Given the description of an element on the screen output the (x, y) to click on. 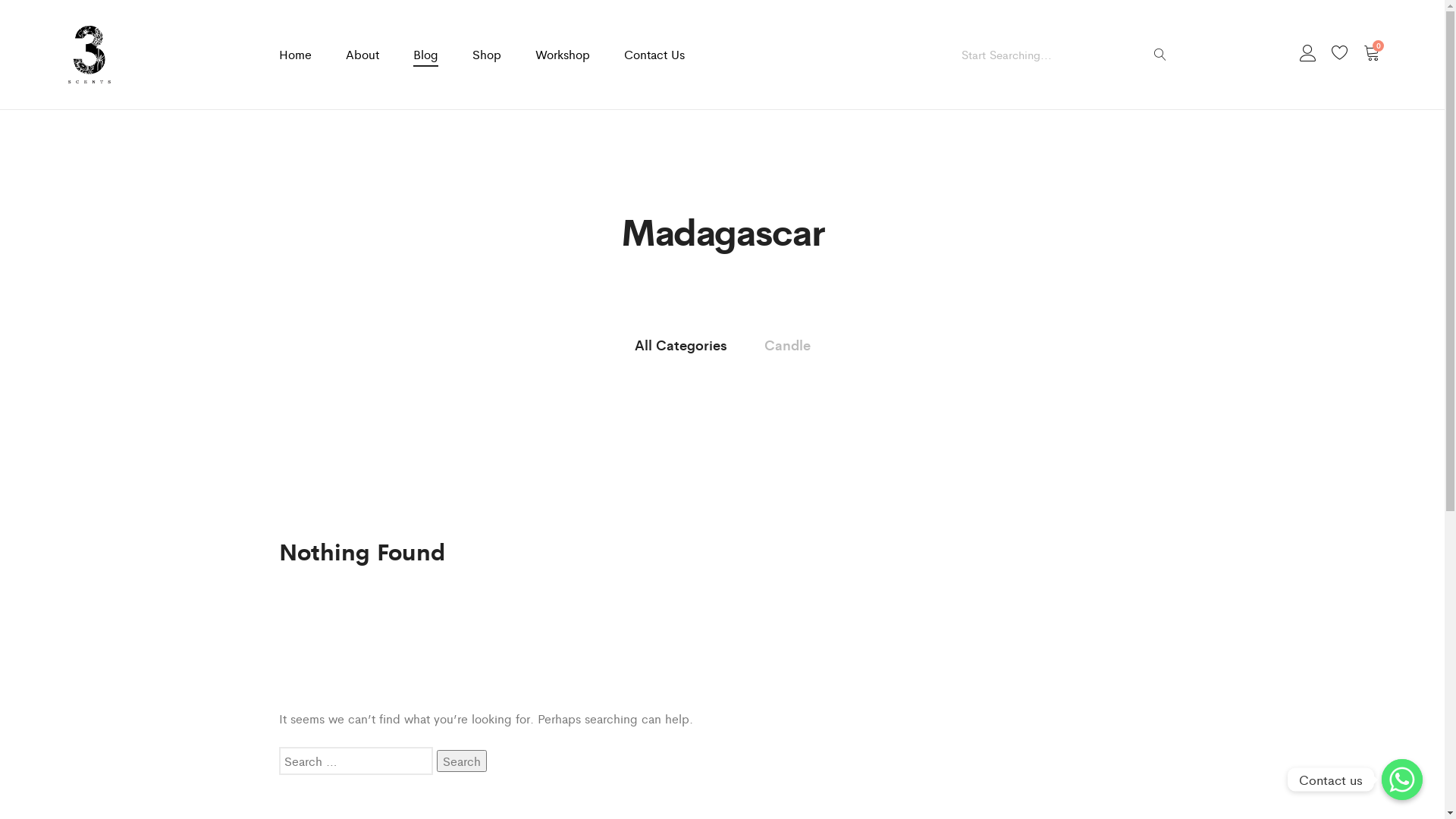
0 Element type: text (1371, 54)
Blog Element type: text (424, 54)
Contact us Element type: text (1401, 779)
Shop Element type: text (485, 54)
About Element type: text (362, 54)
All Categories Element type: text (679, 344)
Candle Element type: text (787, 344)
Home Element type: text (295, 54)
Search Element type: text (461, 760)
Workshop Element type: text (562, 54)
Contact Us Element type: text (653, 54)
